Given the description of an element on the screen output the (x, y) to click on. 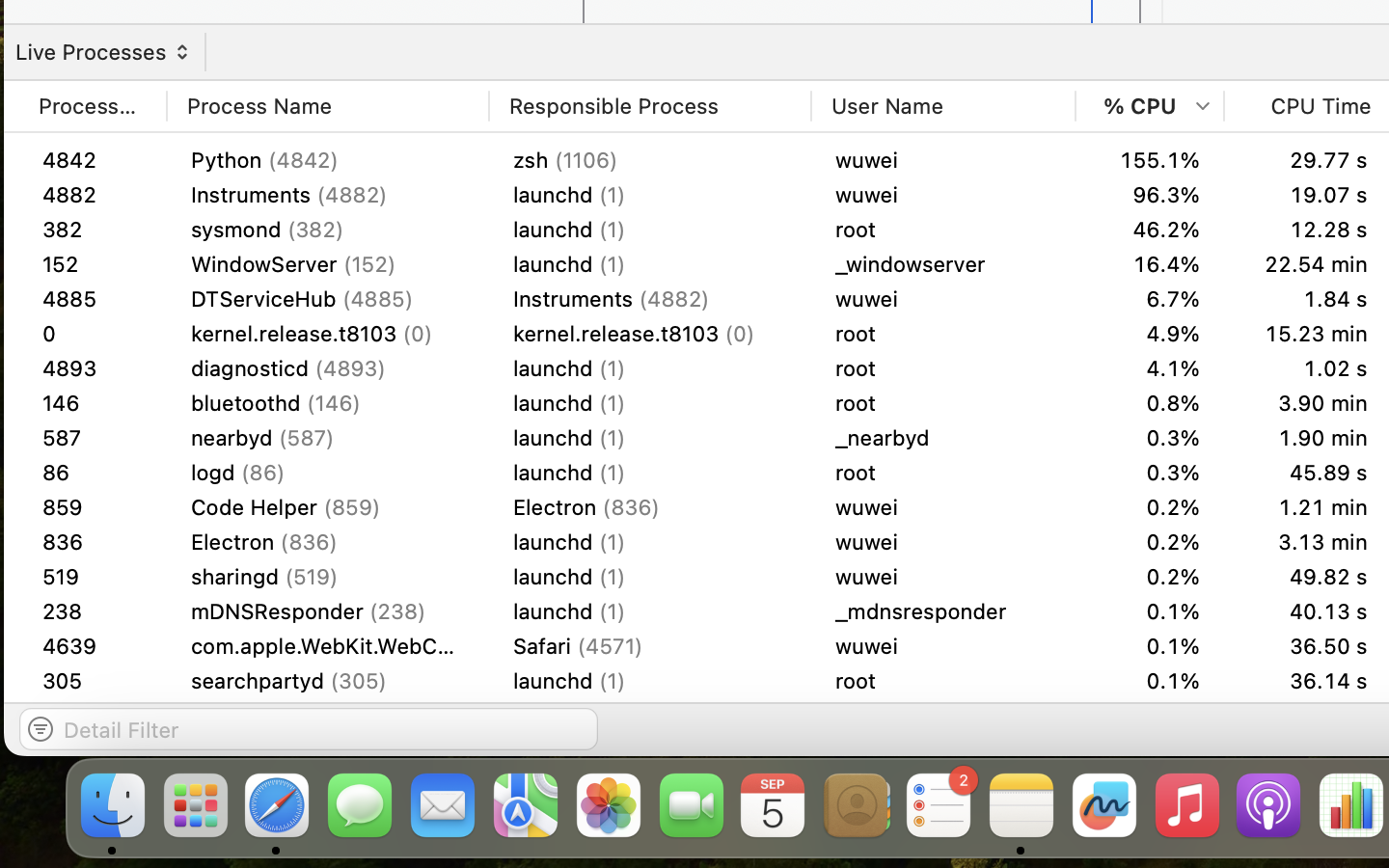
21.51 s Element type: AXStaticText (1307, 645)
1.1% Element type: AXStaticText (1149, 611)
4885 Element type: AXStaticText (92, 367)
0.5% Element type: AXStaticText (1149, 506)
sysmond (382) Element type: AXStaticText (327, 229)
